Given the description of an element on the screen output the (x, y) to click on. 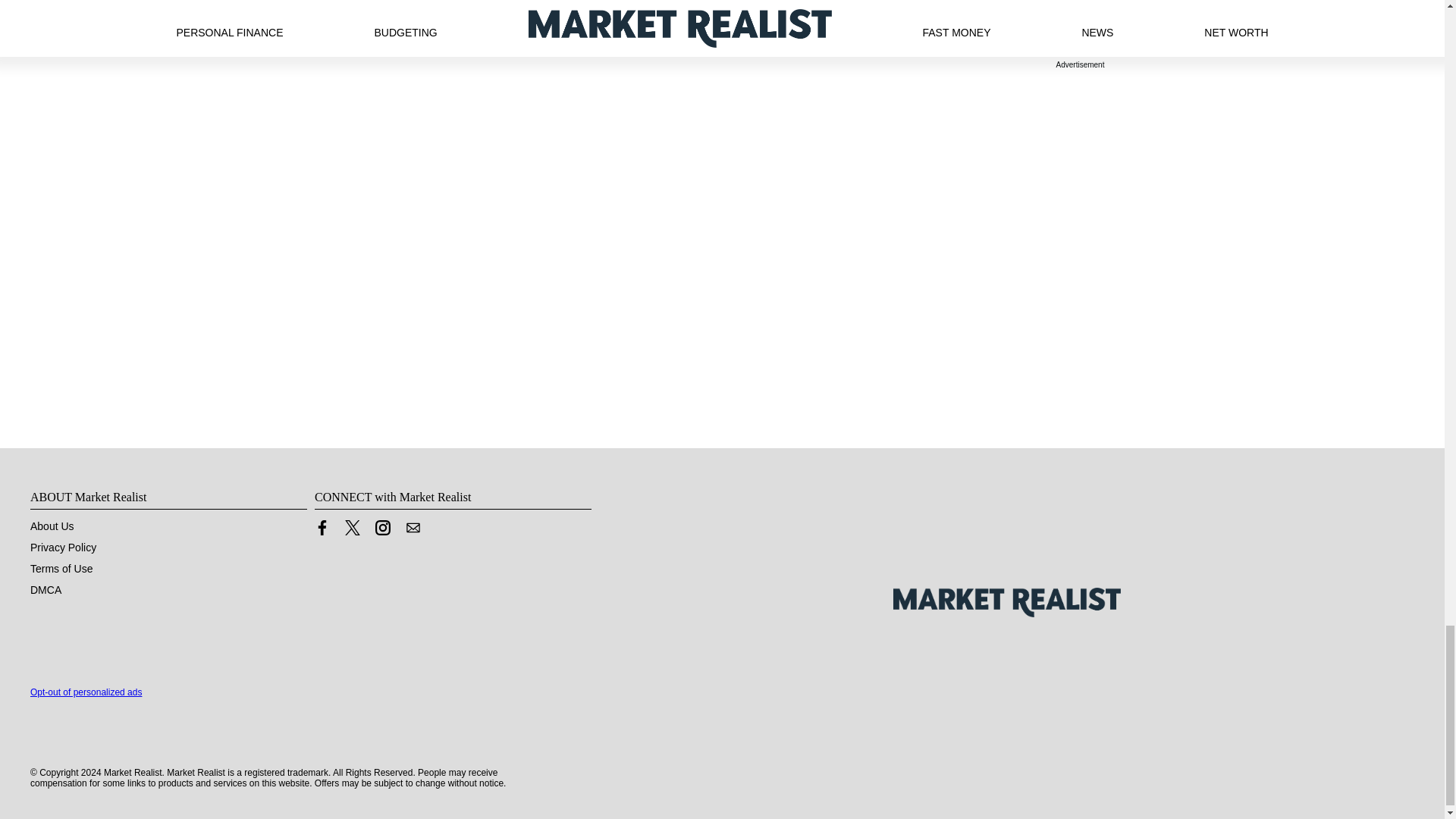
DMCA (45, 589)
Link to X (352, 531)
Contact us by Email (413, 527)
Link to Instagram (382, 527)
Terms of Use (61, 568)
About Us (52, 526)
Link to Facebook (322, 531)
Privacy Policy (63, 547)
Link to Facebook (322, 527)
About Us (52, 526)
